Given the description of an element on the screen output the (x, y) to click on. 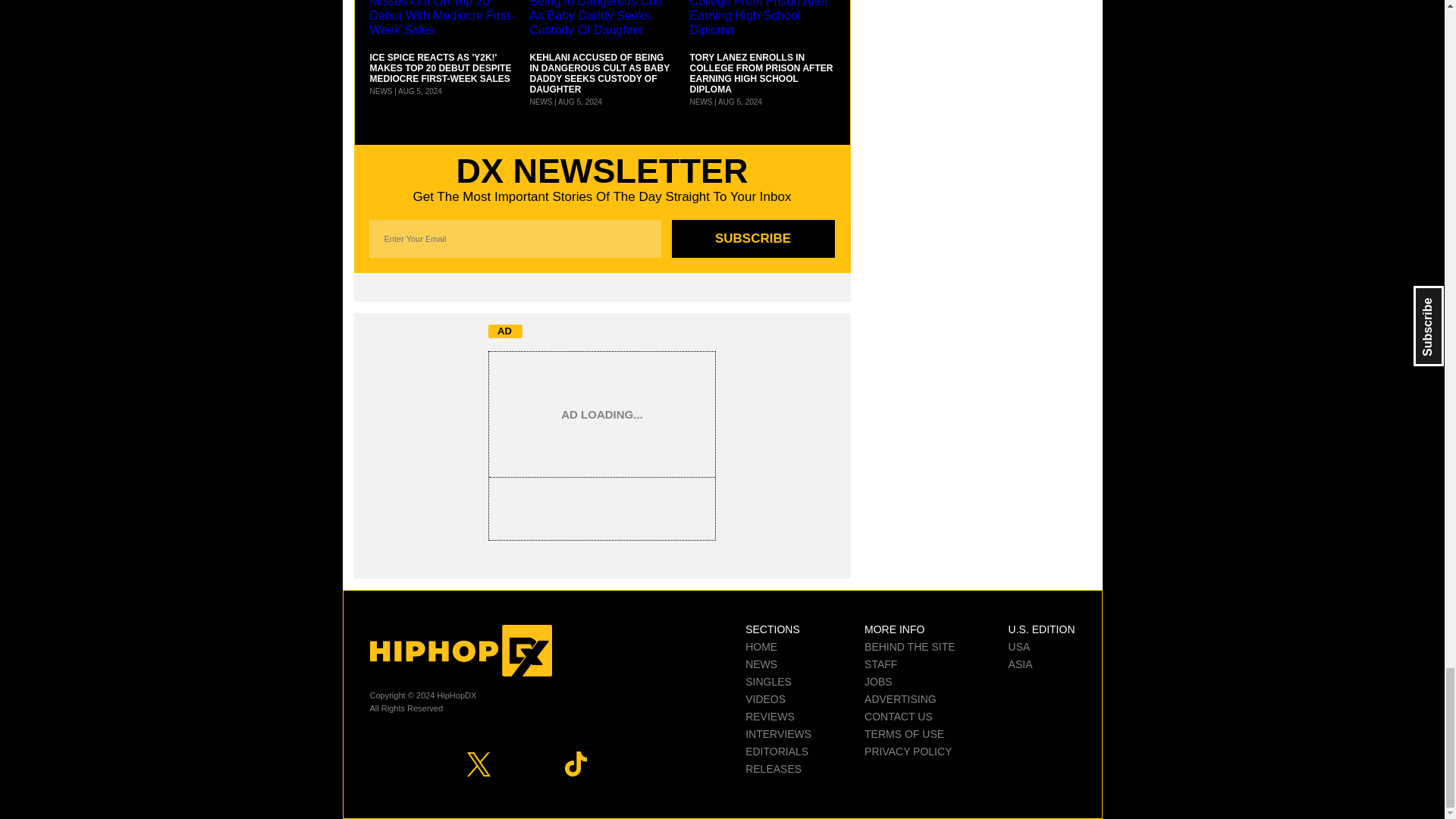
HipHopDX (460, 650)
